Given the description of an element on the screen output the (x, y) to click on. 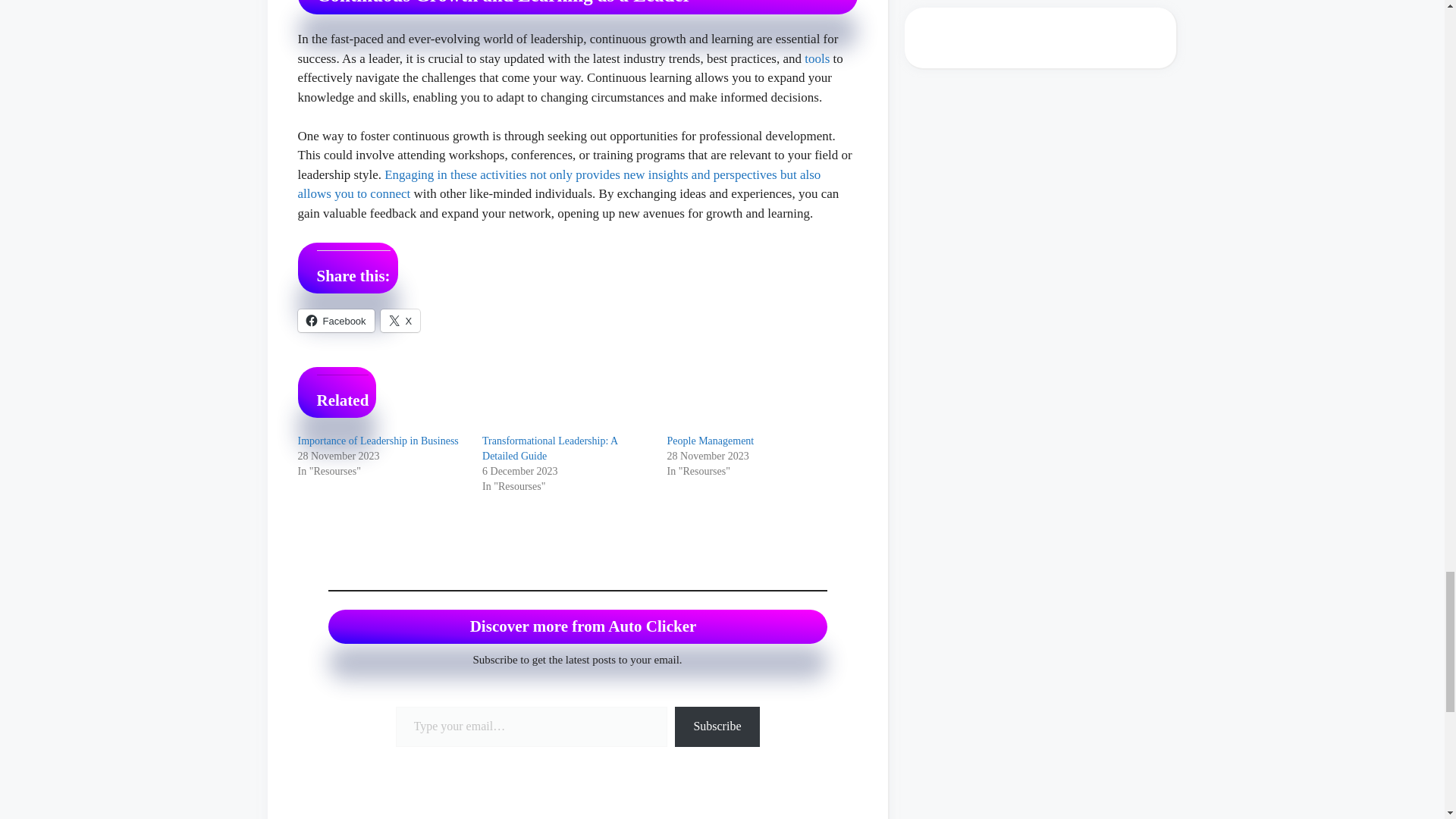
Subscribe (716, 726)
tools (817, 58)
Transformational Leadership: A Detailed Guide (549, 447)
People Management (710, 440)
Importance of Leadership in Business (377, 440)
Facebook (335, 320)
X (400, 320)
